Given the description of an element on the screen output the (x, y) to click on. 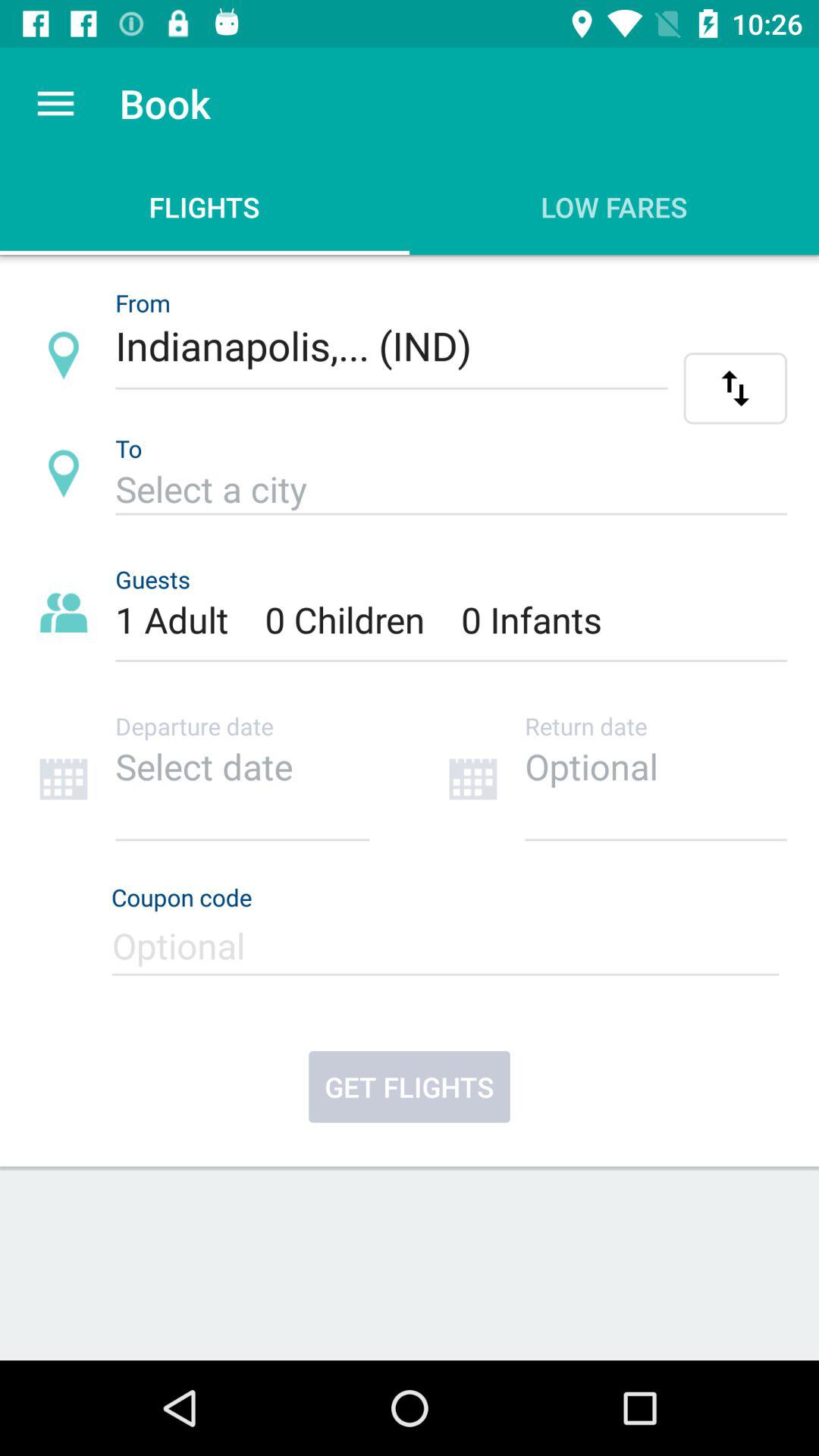
scroll up or down (735, 388)
